Given the description of an element on the screen output the (x, y) to click on. 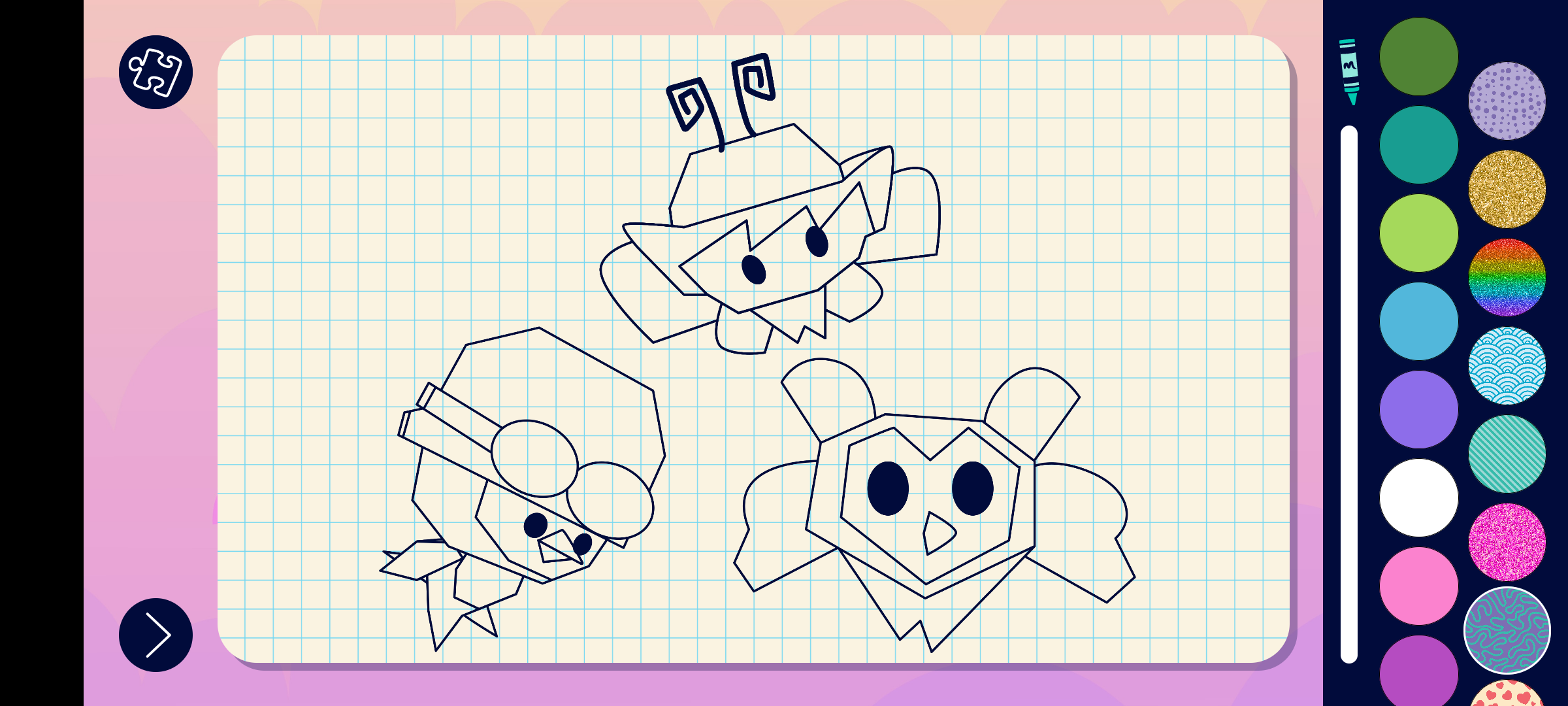
coloring background (1507, 101)
coloring background (1507, 189)
coloring background (1507, 277)
coloring background (1507, 365)
coloring background (1507, 454)
coloring background (1507, 542)
coloring background (1506, 630)
